Given the description of an element on the screen output the (x, y) to click on. 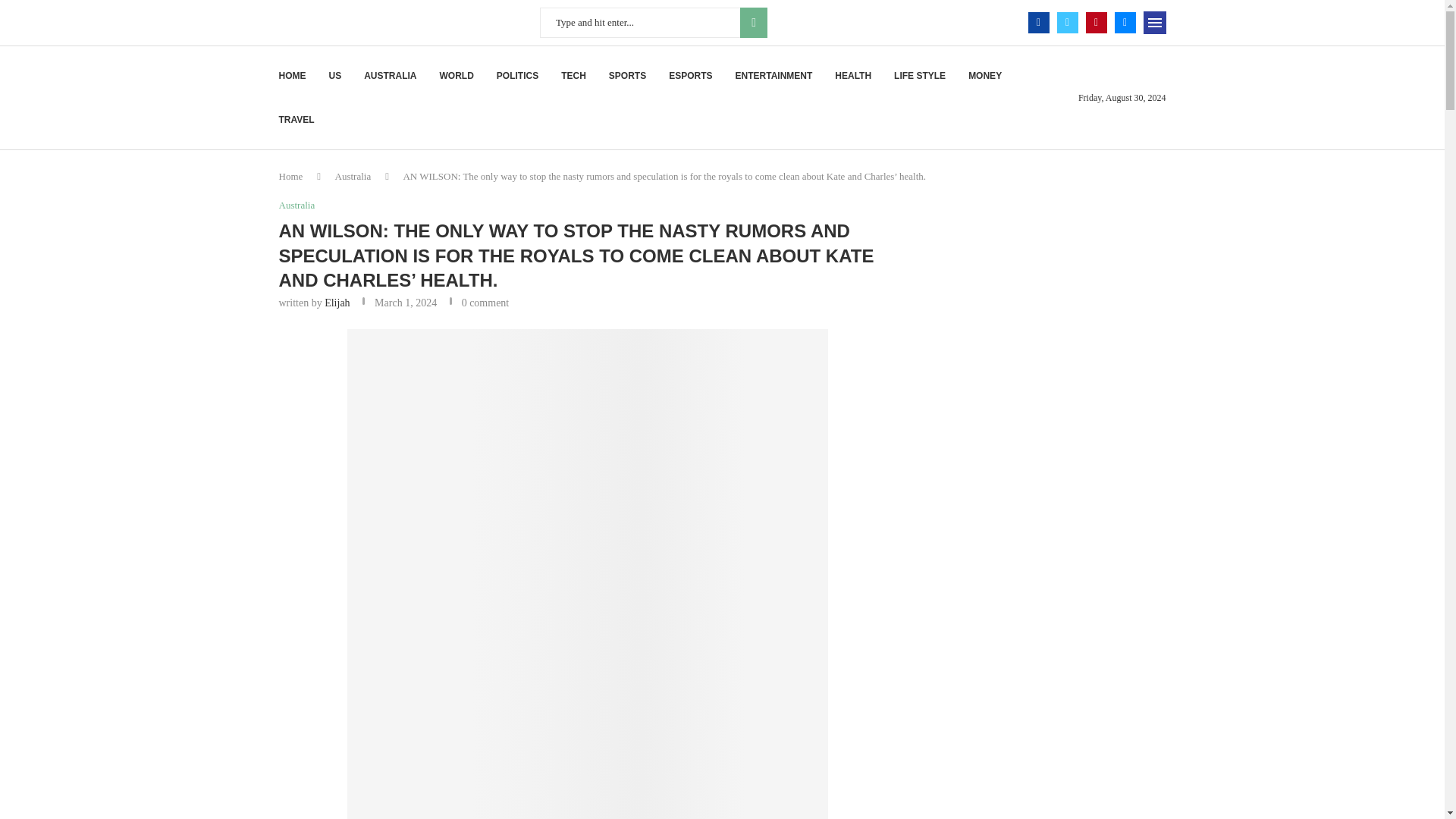
ENTERTAINMENT (773, 75)
LIFE STYLE (918, 75)
POLITICS (517, 75)
ESPORTS (689, 75)
AUSTRALIA (390, 75)
SEARCH (753, 22)
